Given the description of an element on the screen output the (x, y) to click on. 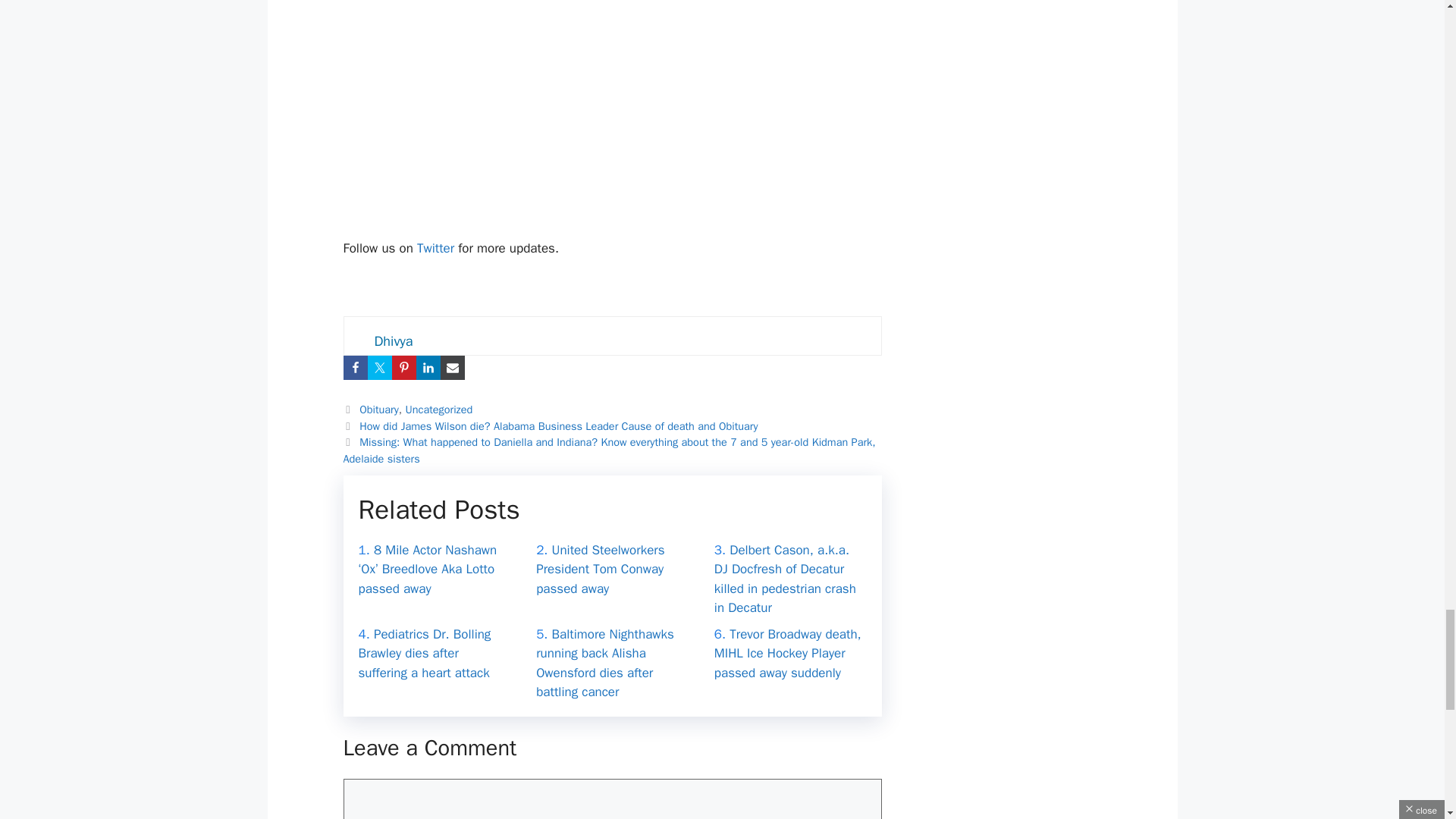
Share on LinkedIn (426, 367)
Share on Facebook (354, 367)
Share on Twitter (378, 367)
Share via Email (451, 367)
Share on Pinterest (402, 367)
